Given the description of an element on the screen output the (x, y) to click on. 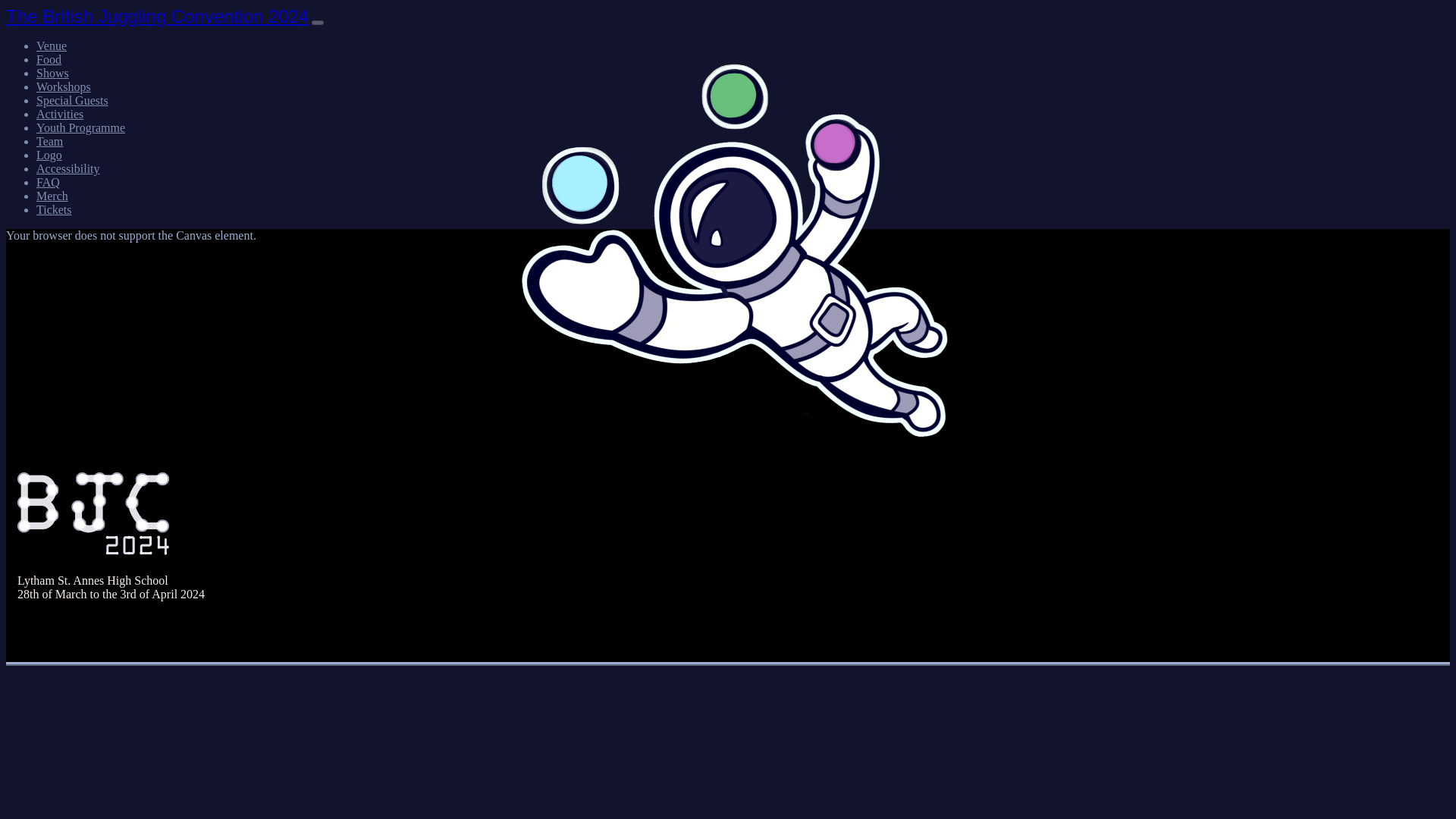
Youth Programme (80, 127)
FAQ (47, 182)
Shows (52, 72)
Activities (59, 113)
Logo (49, 154)
Merch (52, 195)
Food (48, 59)
The British Juggling Convention 2024 (156, 15)
Workshops (63, 86)
Team (49, 141)
Venue (51, 45)
Special Guests (71, 100)
Tickets (53, 209)
Accessibility (68, 168)
